Given the description of an element on the screen output the (x, y) to click on. 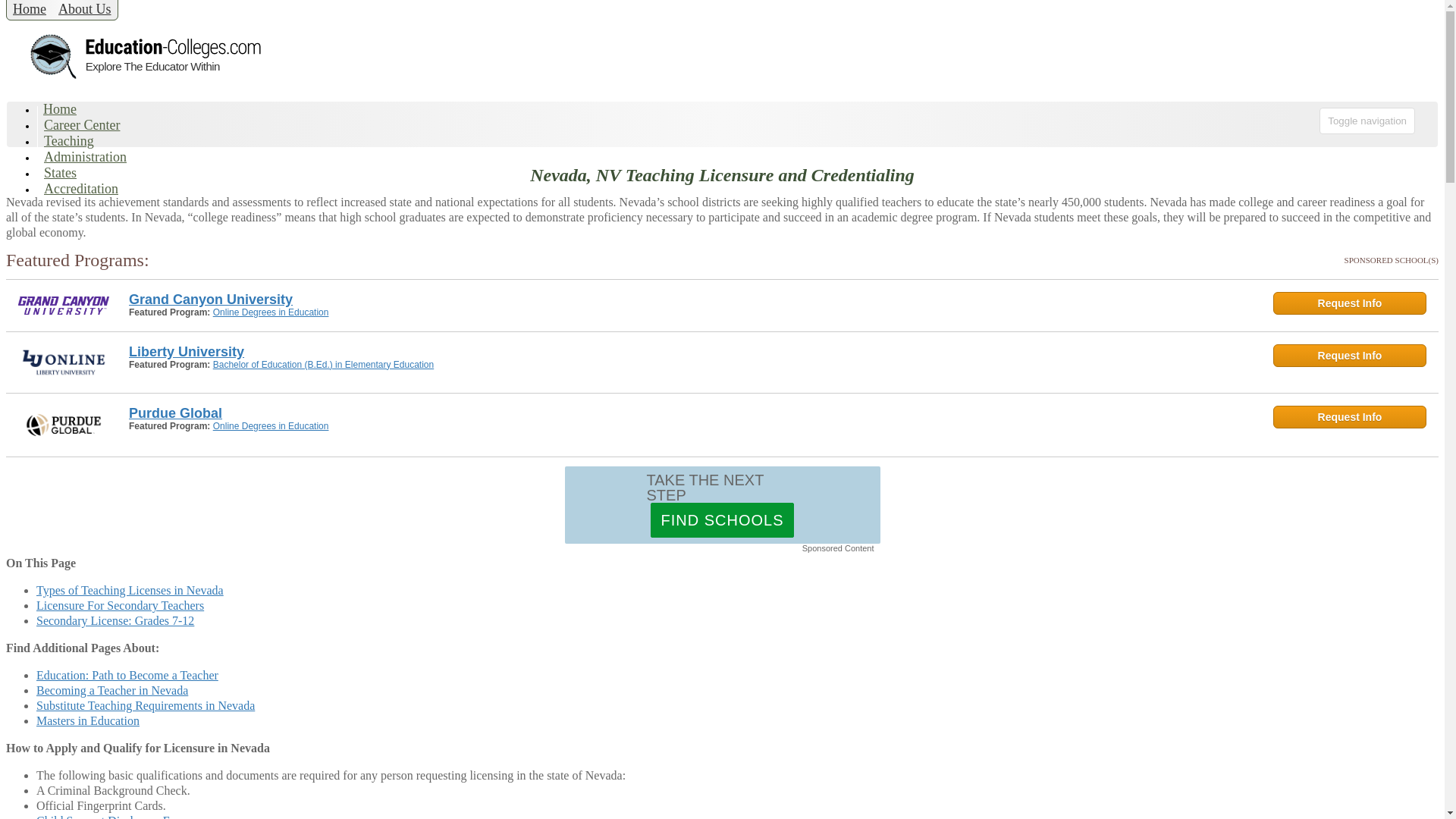
Administration (84, 157)
Career Center (81, 125)
Request Info (1349, 302)
Liberty University (691, 351)
Request Info (1349, 354)
Education: Path to Become a Teacher (127, 675)
Request Info (1349, 416)
Masters in Education (87, 720)
Teaching (68, 140)
States (59, 172)
Substitute Teaching Requirements in Nevada (145, 705)
Becoming a Teacher in Nevada (111, 689)
Home (59, 108)
Grand Canyon University (691, 299)
Secondary License: Grades 7-12 (114, 620)
